Given the description of an element on the screen output the (x, y) to click on. 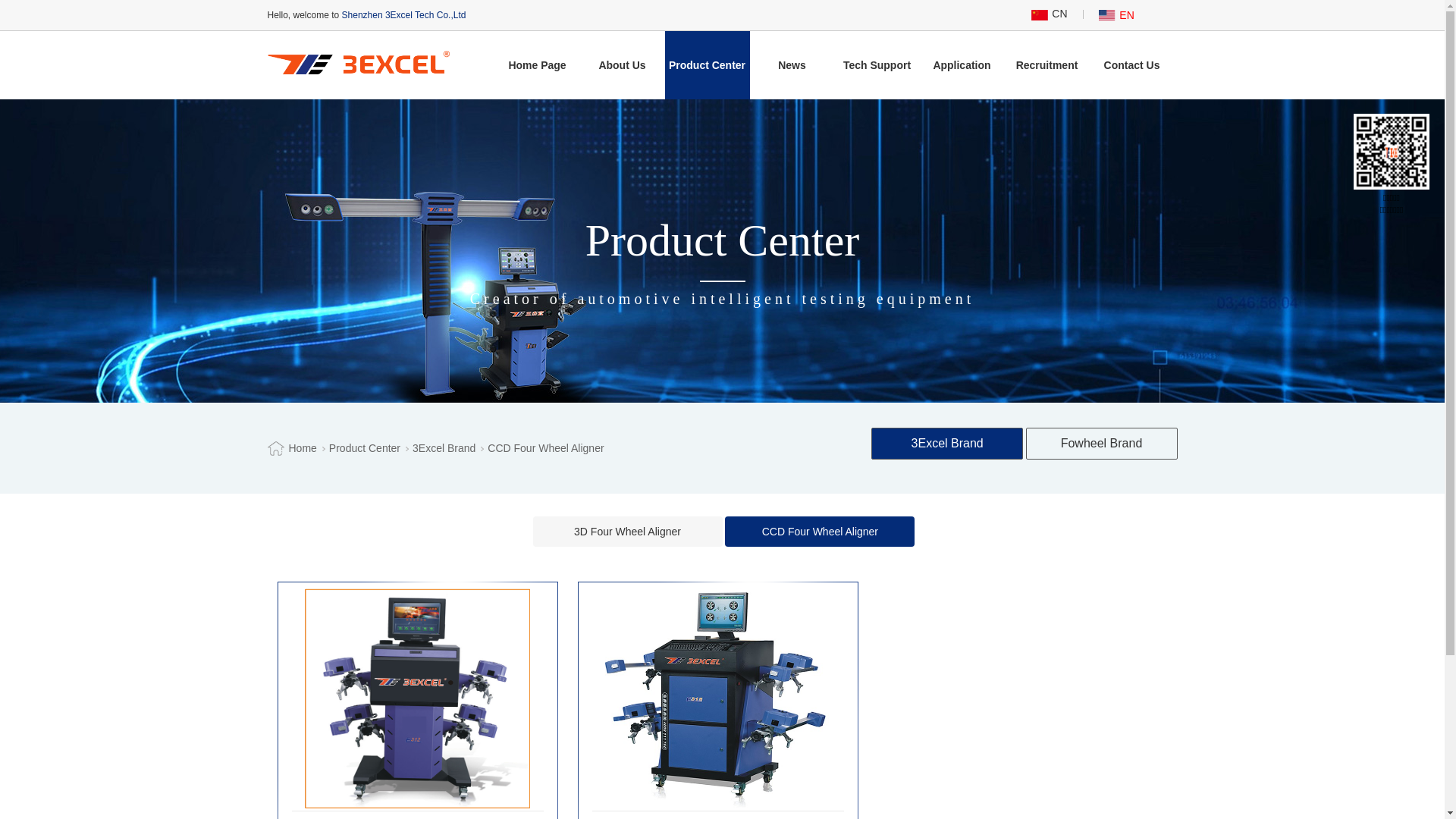
Shenzhen 3Excel Tech Co.,Ltd Element type: hover (357, 62)
3Excel Brand Element type: text (443, 448)
Home Page Element type: text (536, 65)
3D Four Wheel Aligner Element type: text (626, 531)
CCD Four Wheel Aligner Element type: text (819, 531)
E315 Element type: hover (718, 698)
Product Center Element type: text (706, 65)
3Excel Brand Element type: text (947, 443)
Tech Support Element type: text (876, 65)
Contact Us Element type: text (1130, 65)
Fowheel Brand Element type: text (1101, 443)
News Element type: text (791, 65)
Application Element type: text (961, 65)
Home Element type: text (302, 448)
E312+ Element type: hover (417, 698)
Recruitment Element type: text (1046, 65)
Product Center Element type: text (364, 448)
CN Element type: text (1058, 13)
CCD Four Wheel Aligner Element type: text (545, 448)
About Us Element type: text (621, 65)
